Given the description of an element on the screen output the (x, y) to click on. 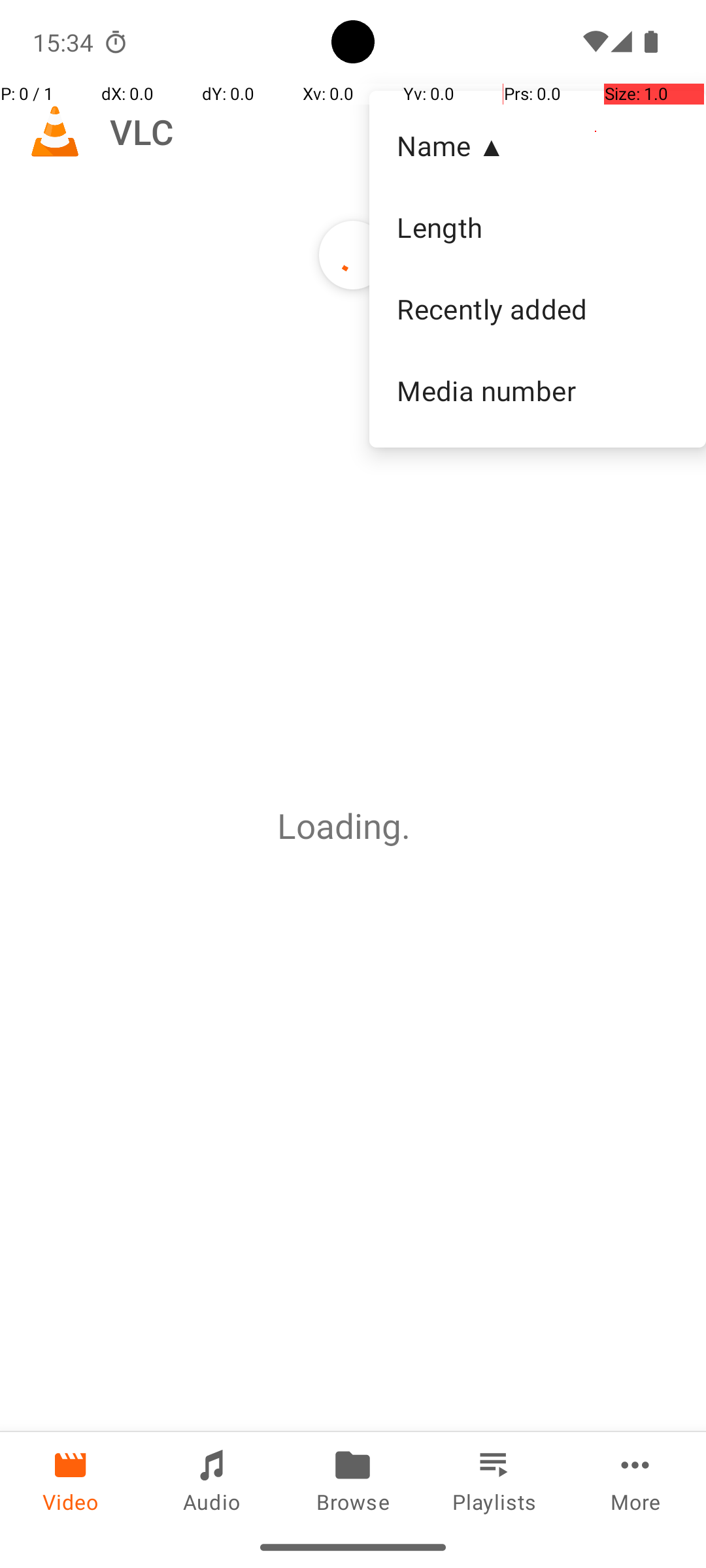
Name. Ascending Element type: android.widget.LinearLayout (537, 145)
Length Element type: android.widget.LinearLayout (537, 227)
Recently added Element type: android.widget.LinearLayout (537, 308)
Name ▲ Element type: android.widget.TextView (537, 145)
Media number Element type: android.widget.TextView (537, 389)
